Given the description of an element on the screen output the (x, y) to click on. 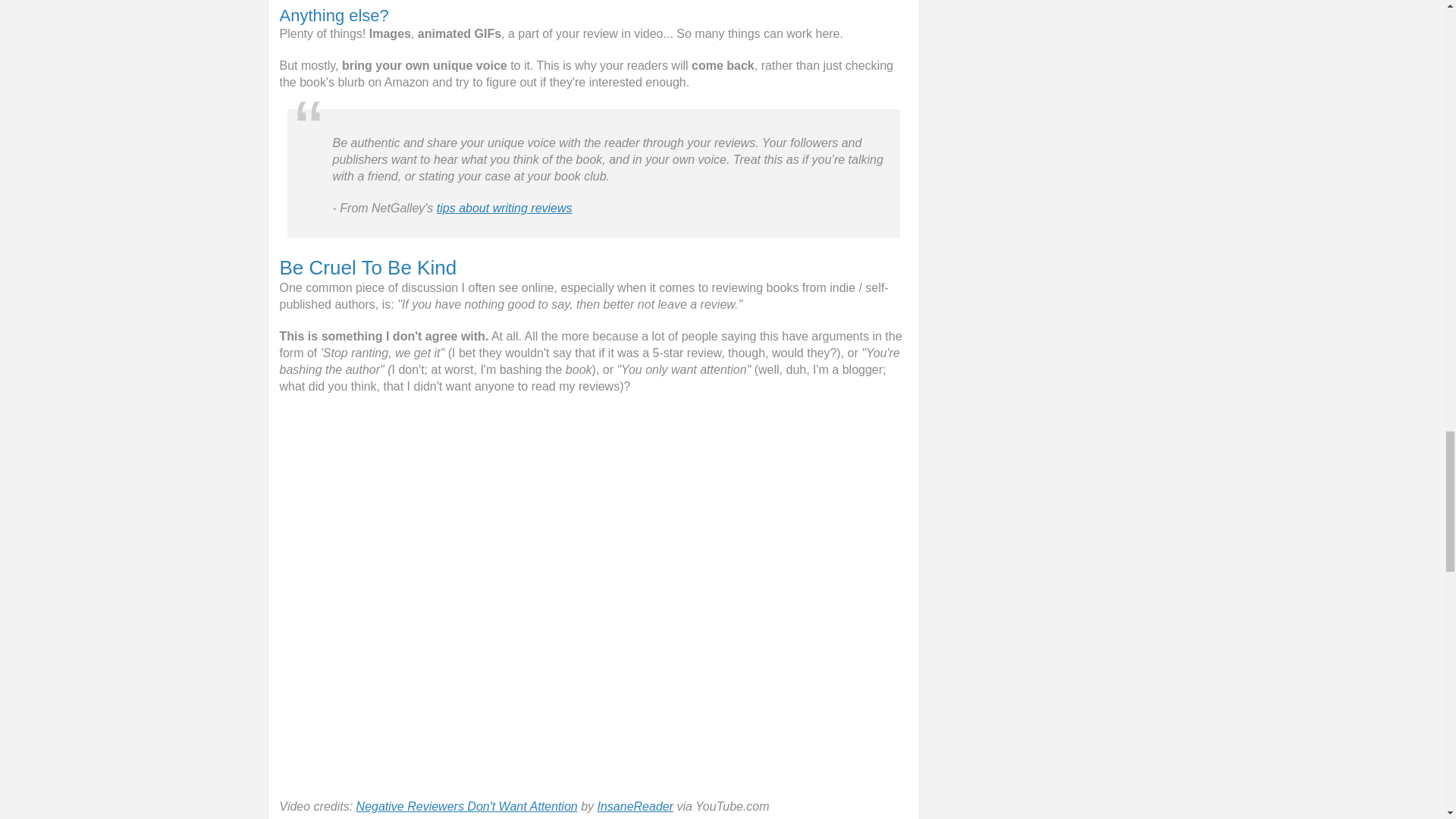
Negative Reviewers Don't Want Attention (467, 806)
tips about writing reviews (504, 207)
InsaneReader (634, 806)
